Given the description of an element on the screen output the (x, y) to click on. 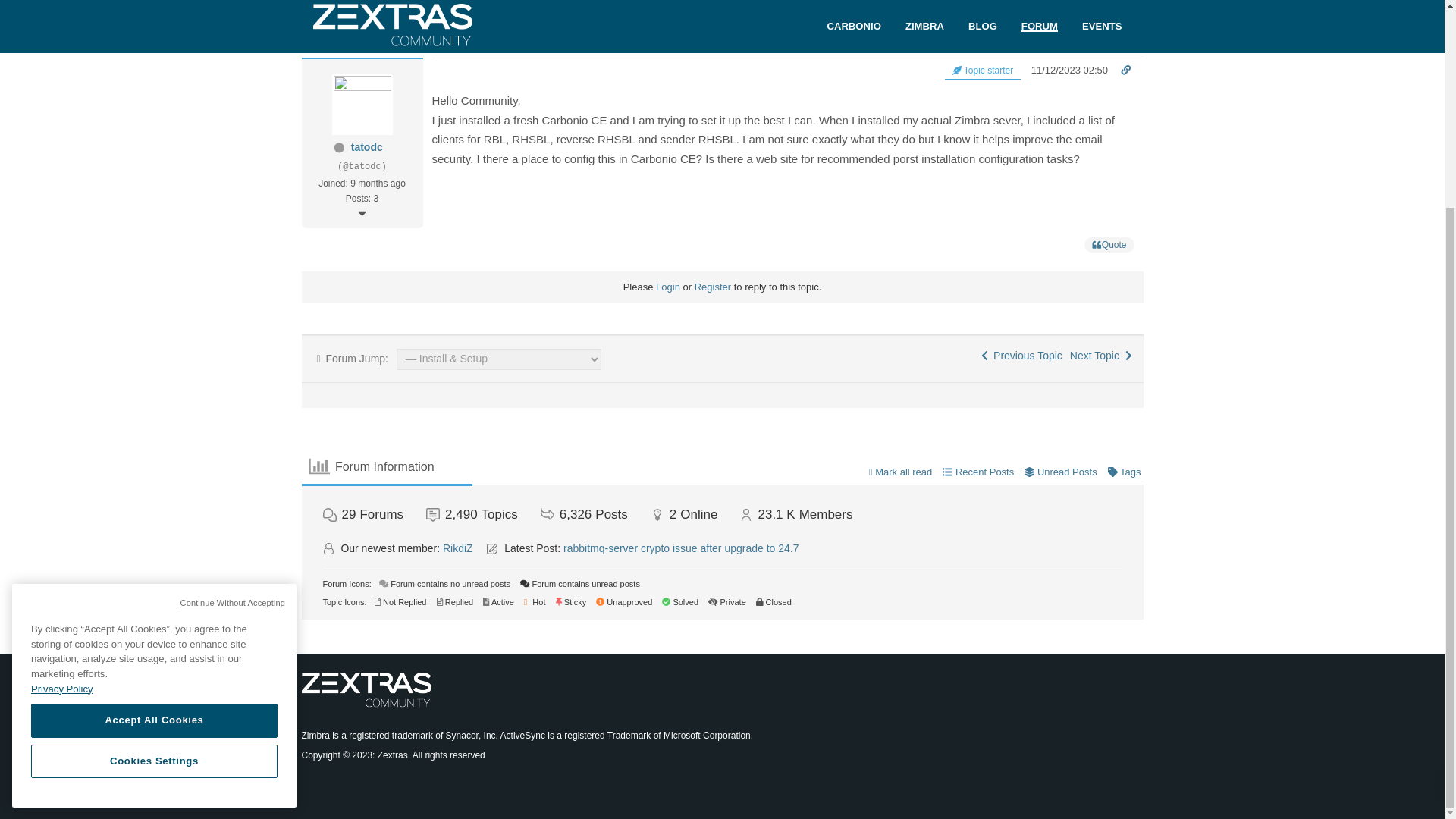
Mark all read (901, 471)
Next Topic   (1101, 355)
  Previous Topic (1021, 355)
Unread Posts (1060, 471)
Tags (1124, 471)
More (361, 213)
Topic RSS Feed (1111, 34)
Register (712, 286)
Recent Posts (977, 471)
Login (667, 286)
tatodc (366, 146)
3rd Party Integration Plugins For Carbonio CE (1101, 355)
RSS (1111, 34)
tatodc (366, 146)
ActiveSync not working (1021, 355)
